Given the description of an element on the screen output the (x, y) to click on. 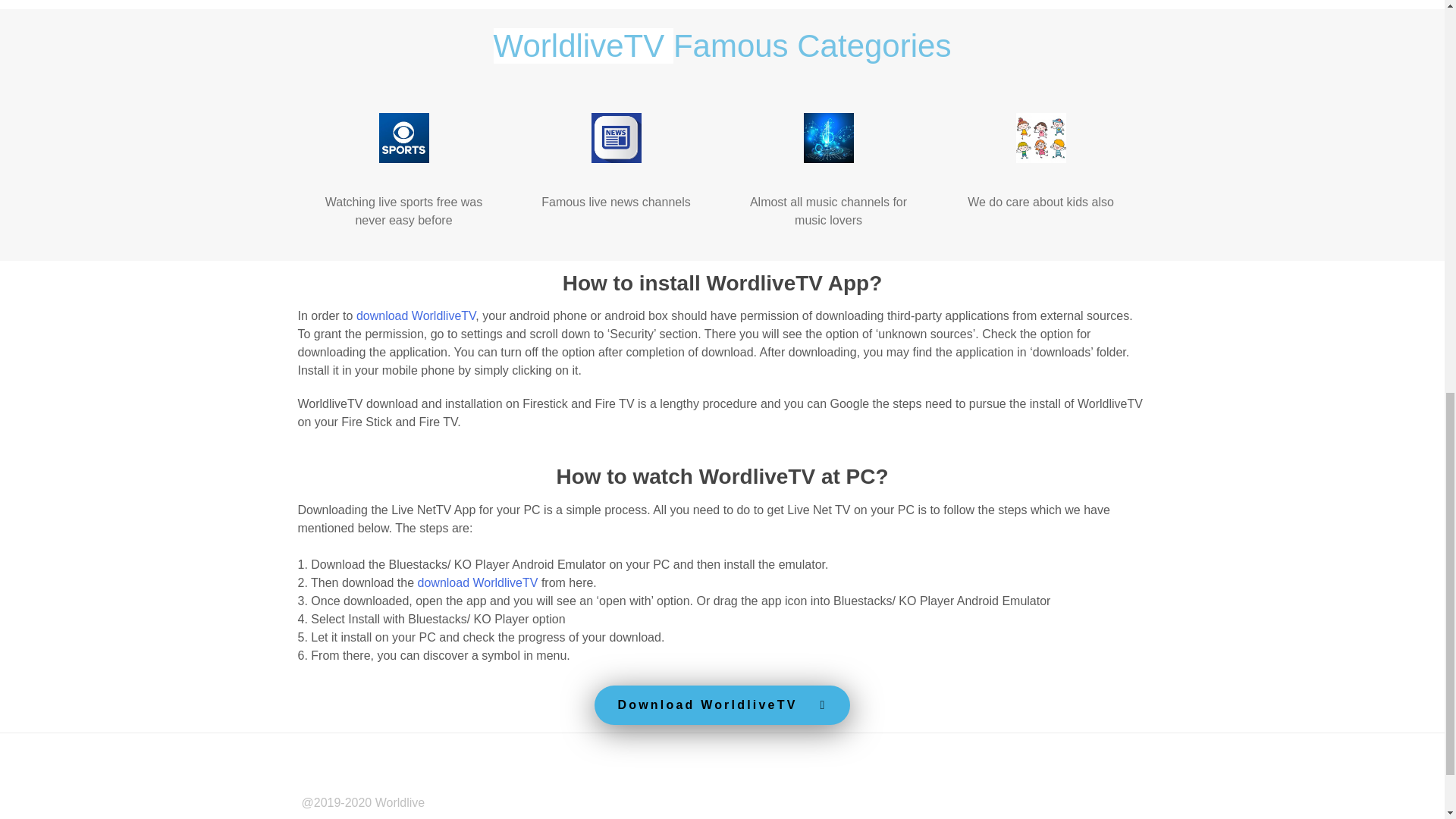
Download WorldliveTV (721, 704)
download WorldliveTV (416, 315)
download WorldliveTV (477, 582)
